Given the description of an element on the screen output the (x, y) to click on. 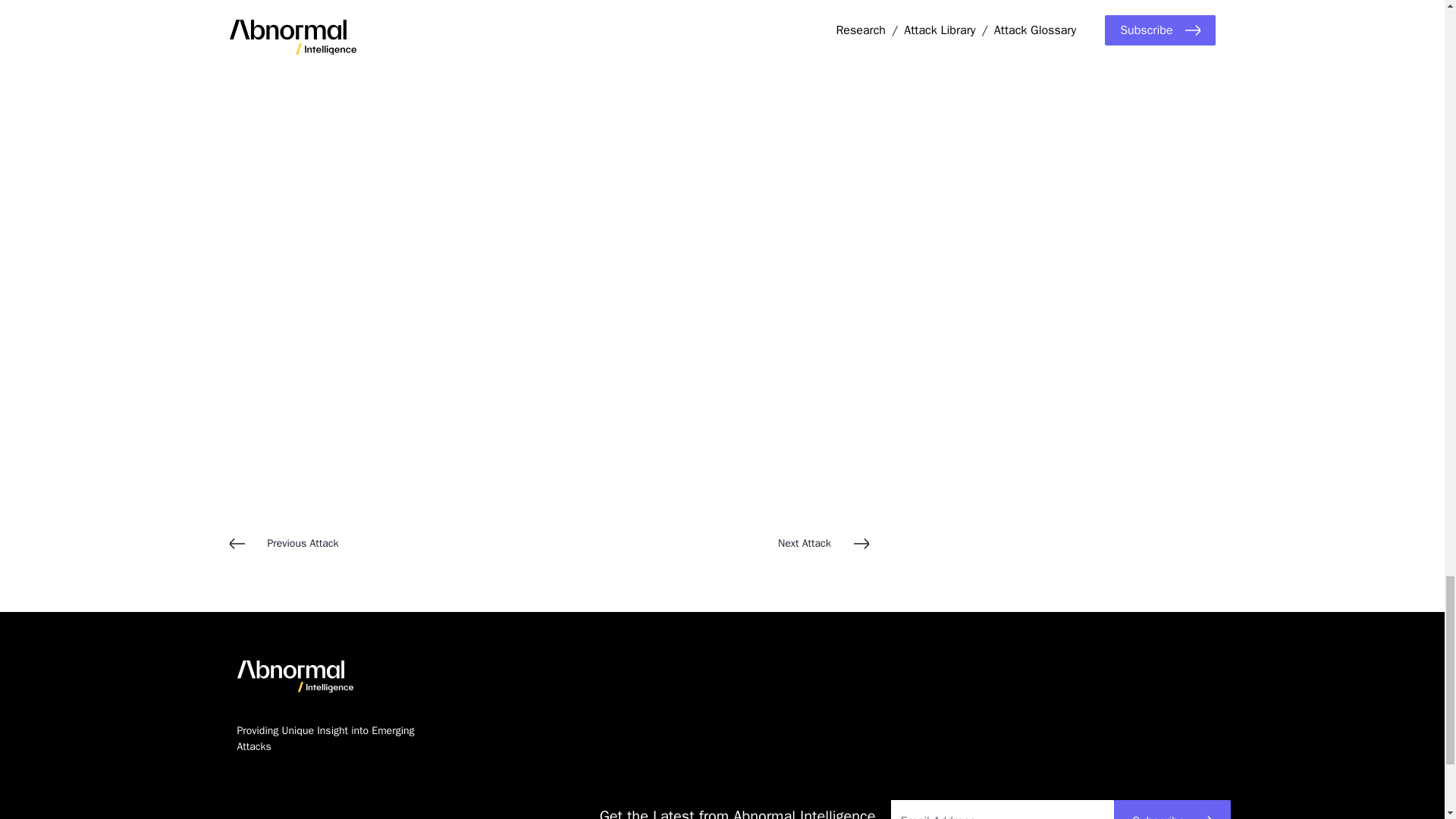
Subscribe (1171, 809)
Next Attack (708, 543)
Previous Attack (388, 543)
